Given the description of an element on the screen output the (x, y) to click on. 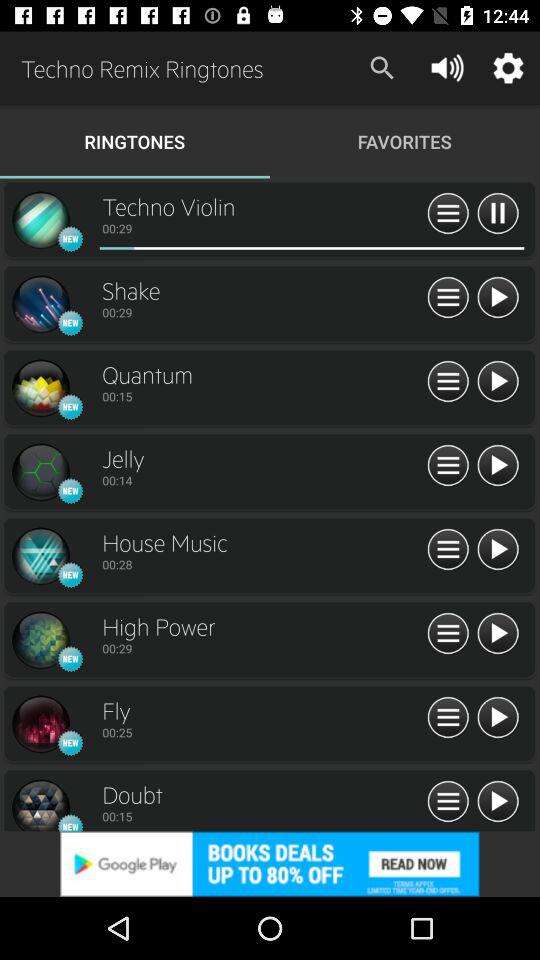
pause the ringtone (497, 213)
